Given the description of an element on the screen output the (x, y) to click on. 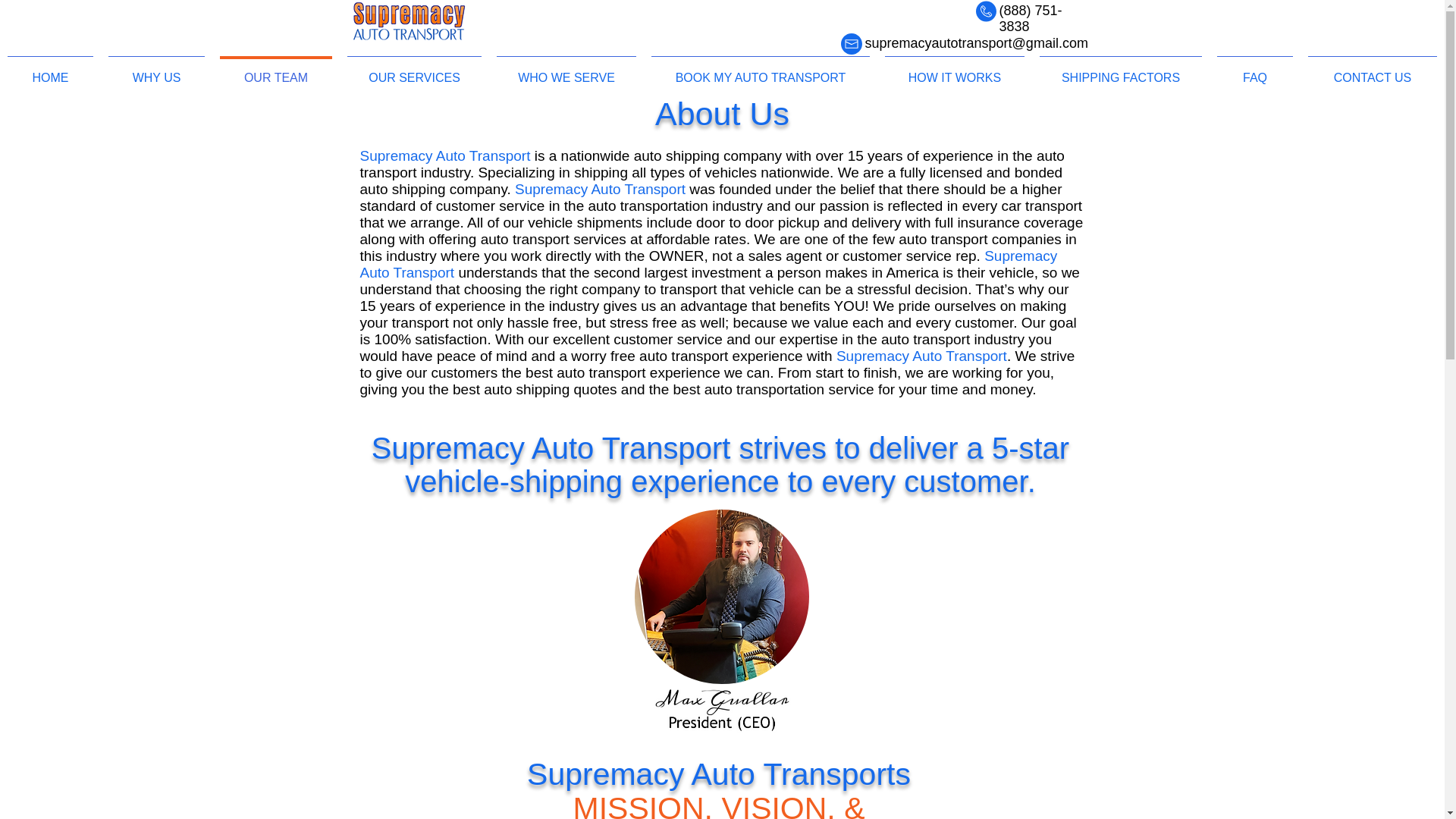
BOOK MY AUTO TRANSPORT (760, 70)
HOW IT WORKS (954, 70)
OUR SERVICES (414, 70)
WHY US (156, 70)
FAQ (1254, 70)
SHIPPING FACTORS (1120, 70)
WHO WE SERVE (566, 70)
OUR TEAM (275, 70)
HOME (50, 70)
